Given the description of an element on the screen output the (x, y) to click on. 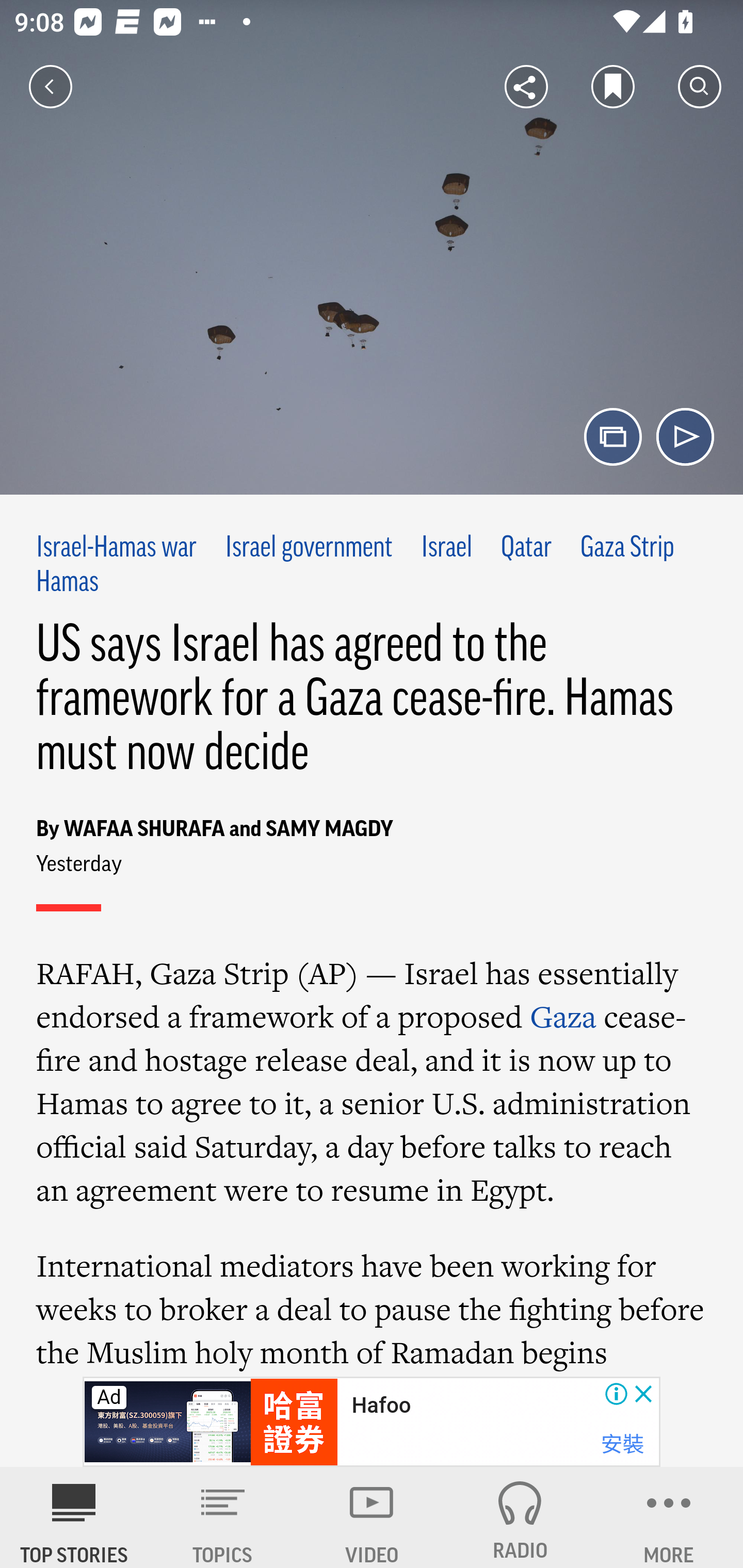
Israel-Hamas war (117, 548)
Israel government (308, 548)
Israel (446, 548)
Qatar (526, 548)
Gaza Strip (627, 548)
Hamas (67, 582)
Gaza (563, 1016)
Hafoo (381, 1405)
安裝 (621, 1444)
AP News TOP STORIES (74, 1517)
TOPICS (222, 1517)
VIDEO (371, 1517)
RADIO (519, 1517)
MORE (668, 1517)
